Given the description of an element on the screen output the (x, y) to click on. 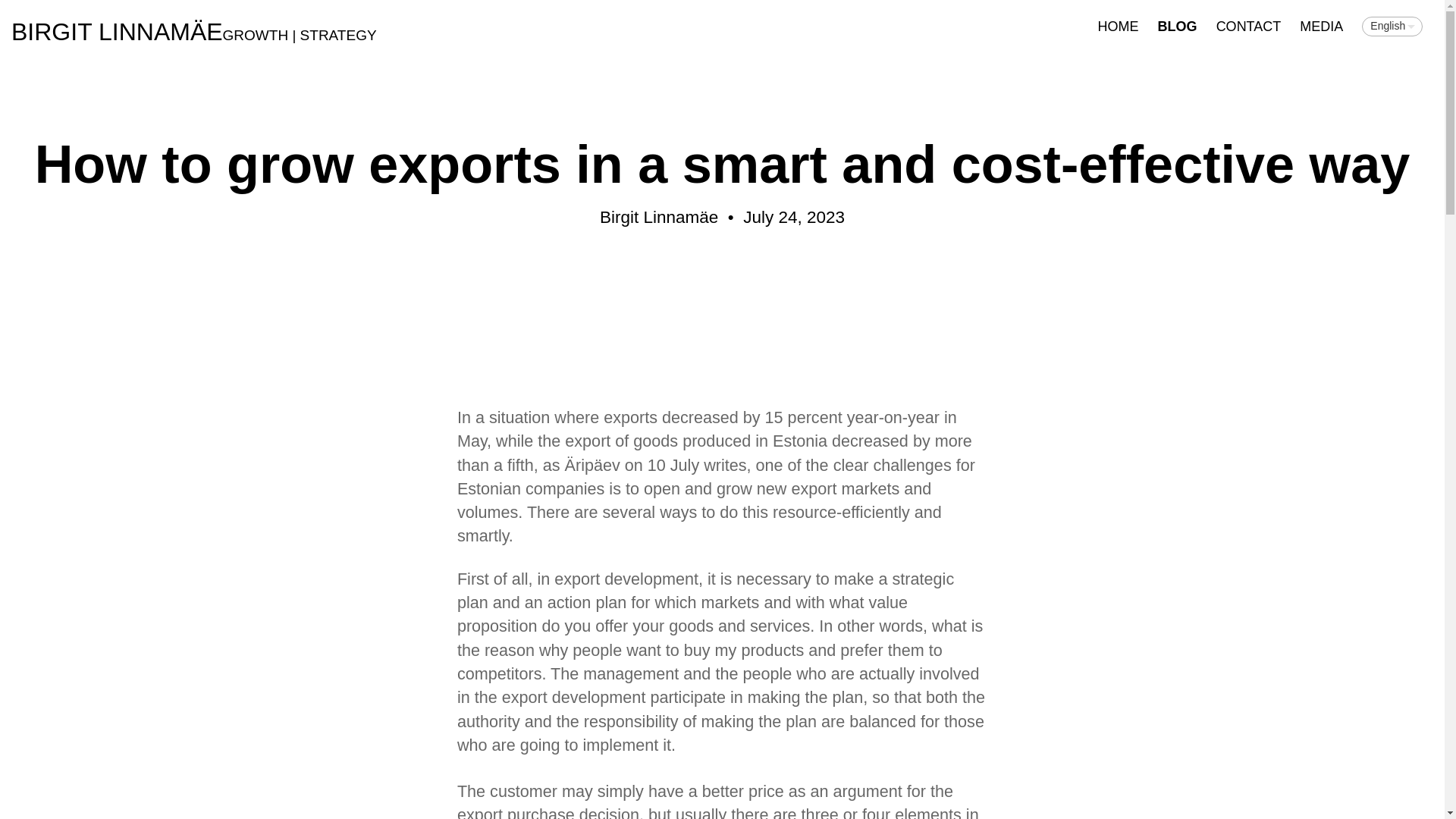
HOME (1117, 27)
MEDIA (1321, 27)
CONTACT (1248, 27)
BLOG (1176, 27)
